Given the description of an element on the screen output the (x, y) to click on. 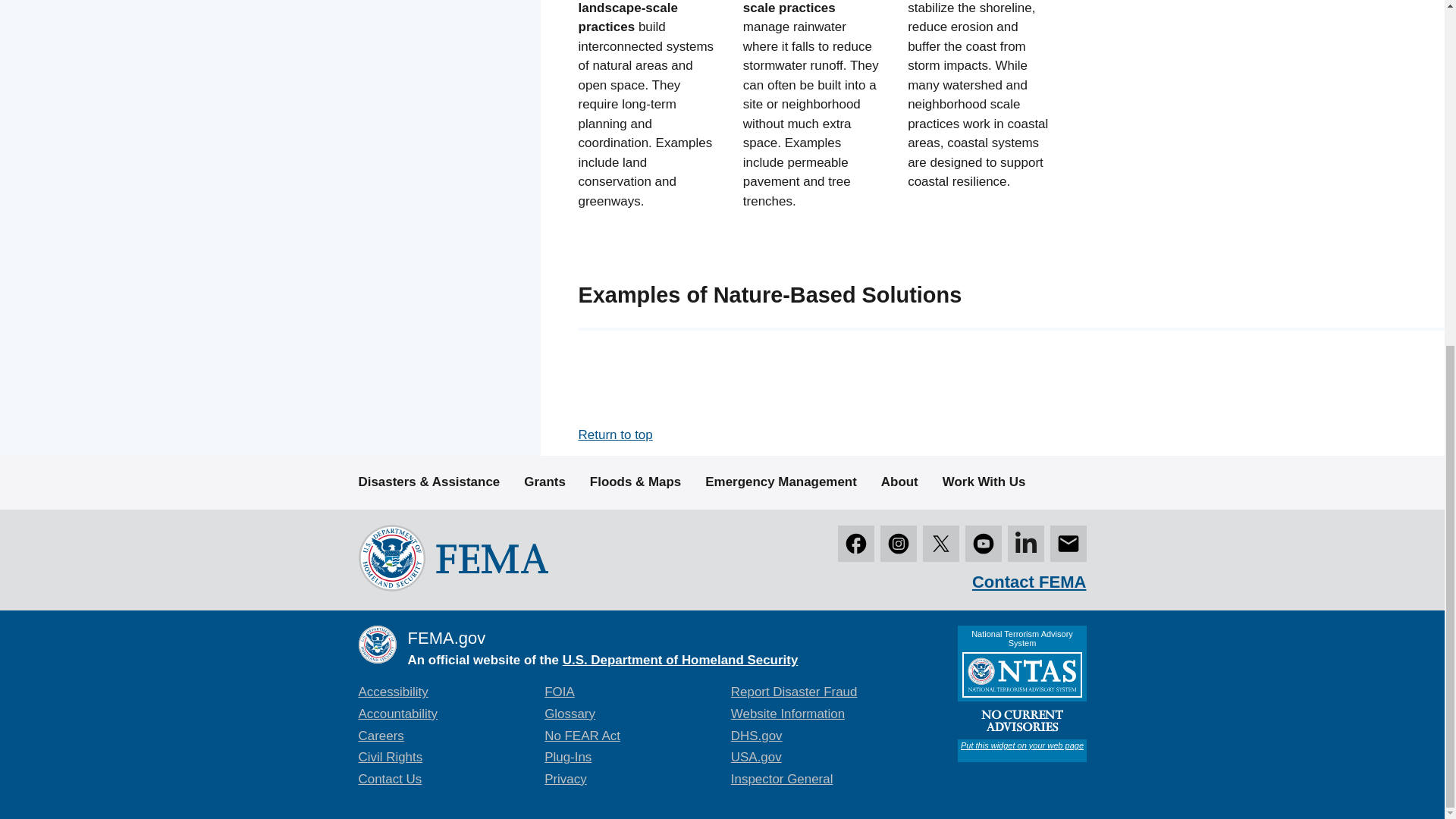
National Terrorism Advisory System (1021, 693)
Grants (545, 482)
FEMA logo (452, 557)
Work With Us (984, 482)
Return to top (615, 434)
Contact FEMA (1029, 581)
About (899, 482)
Emergency Management (780, 482)
